Given the description of an element on the screen output the (x, y) to click on. 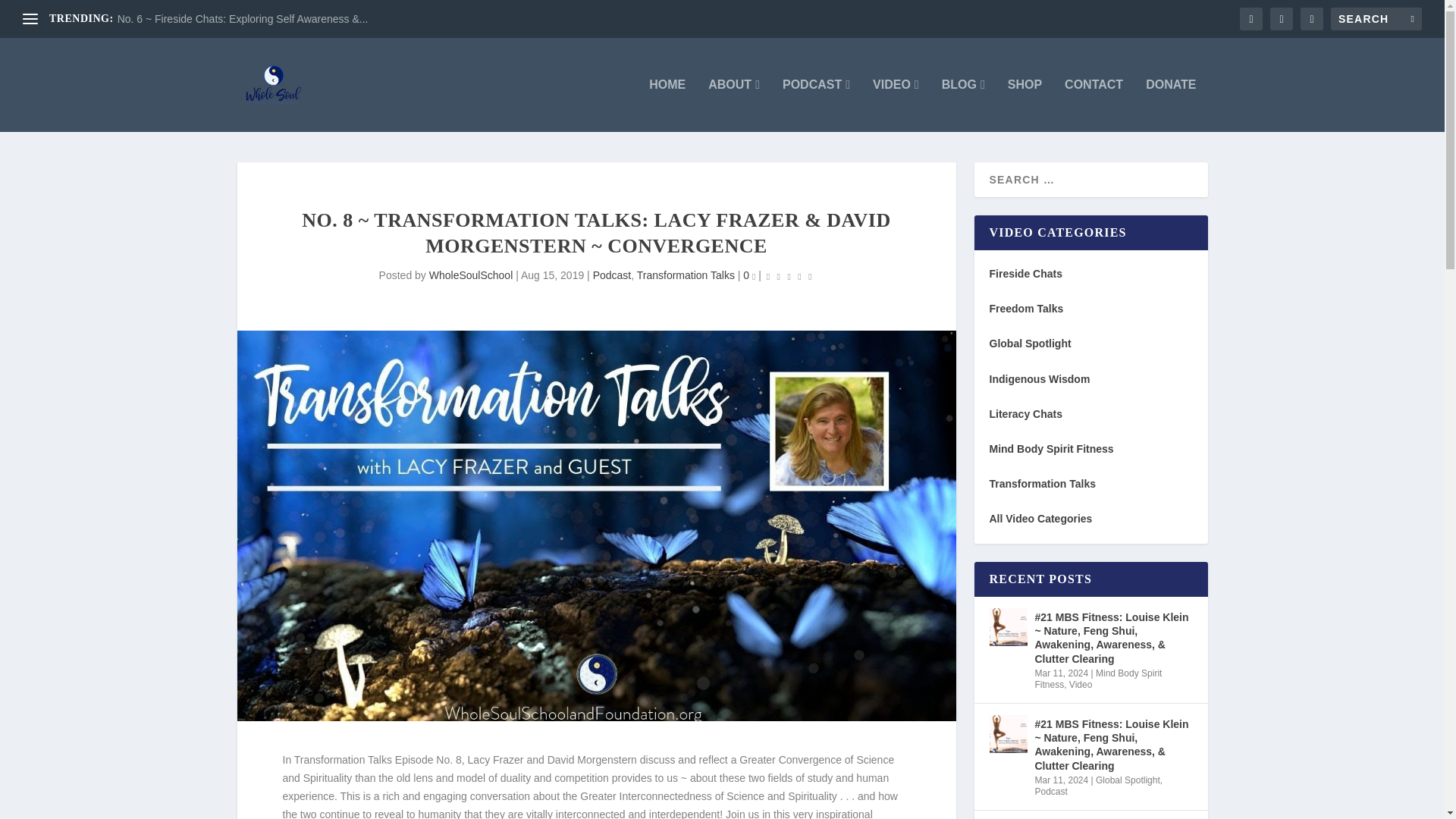
Posts by WholeSoulSchool (471, 275)
ABOUT (733, 104)
PODCAST (816, 104)
Search for: (1376, 18)
Rating: 0.00 (788, 275)
